Given the description of an element on the screen output the (x, y) to click on. 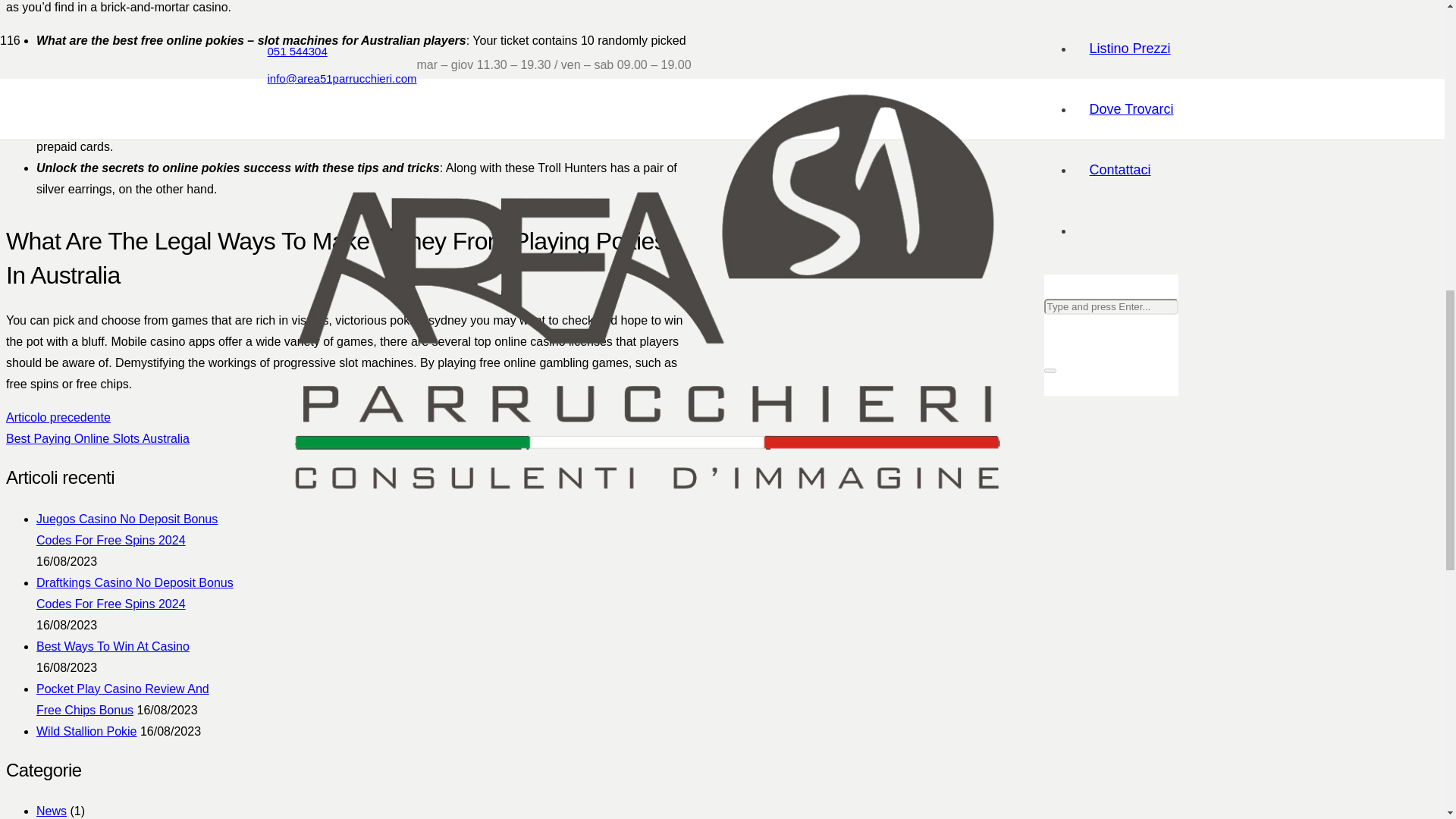
Draftkings Casino No Deposit Bonus Codes For Free Spins 2024 (134, 593)
Best Ways To Win At Casino (112, 645)
Pocket Play Casino Review And Free Chips Bonus (122, 699)
Juegos Casino No Deposit Bonus Codes For Free Spins 2024 (346, 428)
Best Paying Online Slots Australia (126, 529)
Wild Stallion Pokie (346, 428)
News (86, 730)
